Given the description of an element on the screen output the (x, y) to click on. 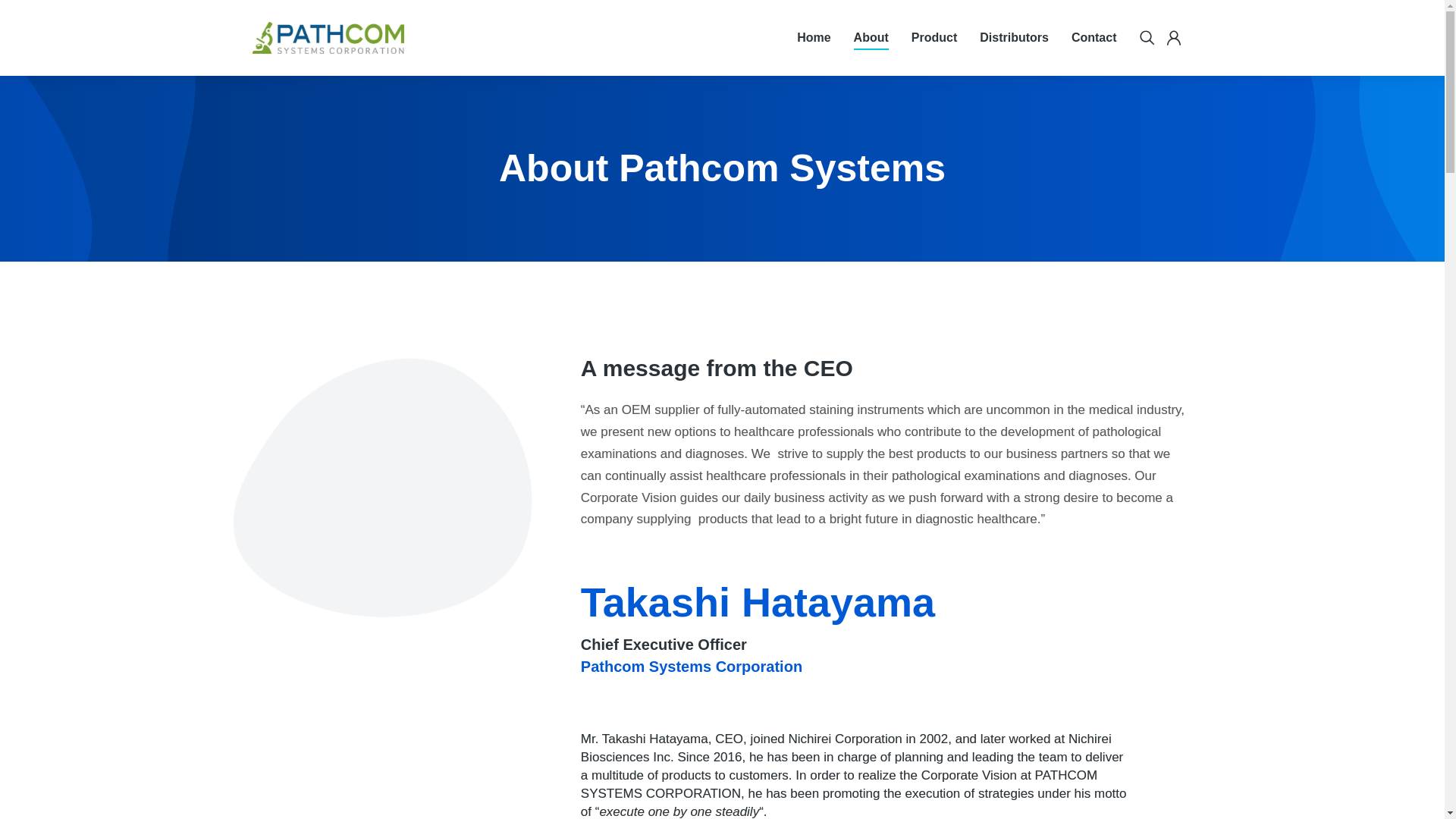
bg-grey (368, 469)
Home (812, 37)
Product (933, 37)
Distributors (1013, 37)
About (870, 37)
Contact (1093, 37)
